Given the description of an element on the screen output the (x, y) to click on. 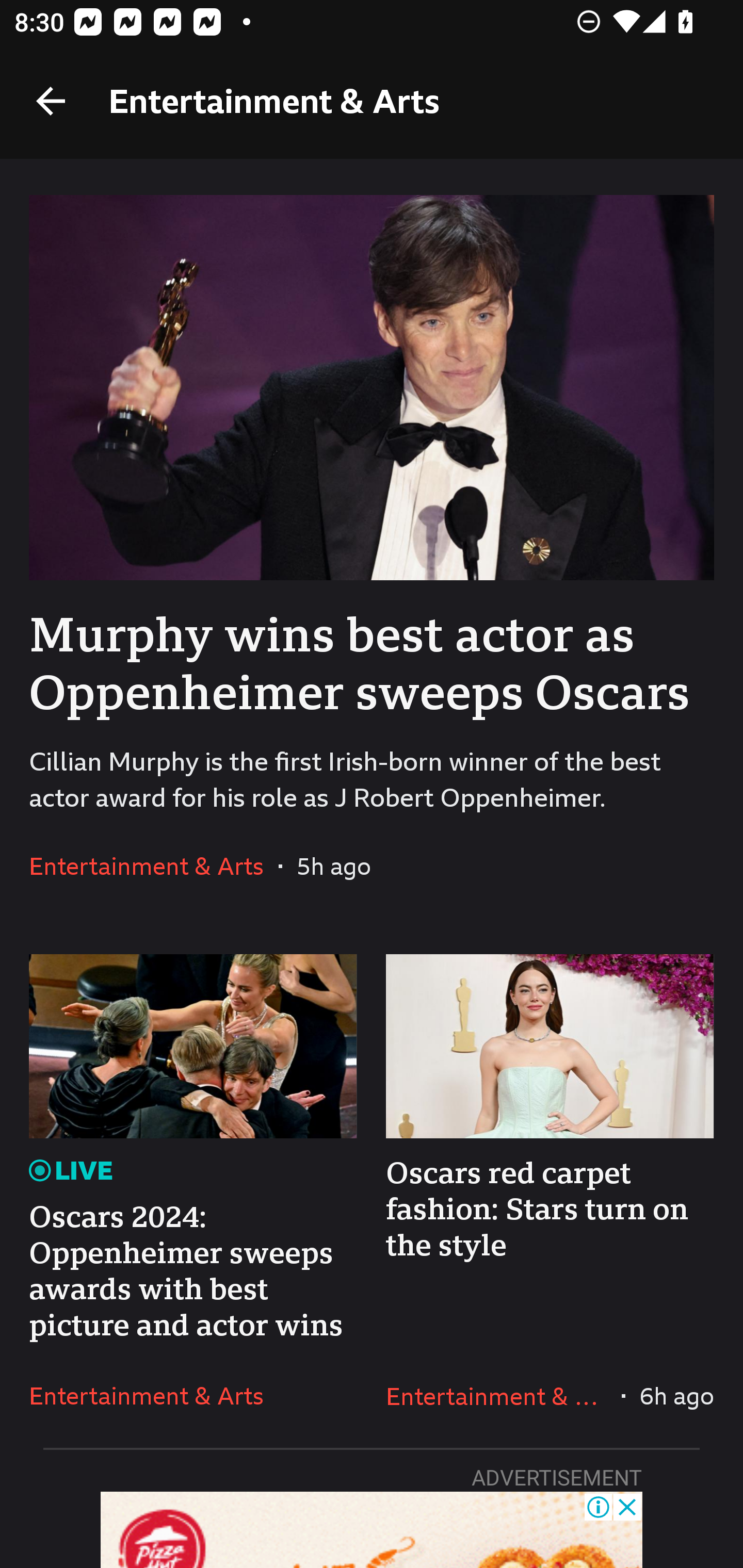
Back (50, 101)
